Given the description of an element on the screen output the (x, y) to click on. 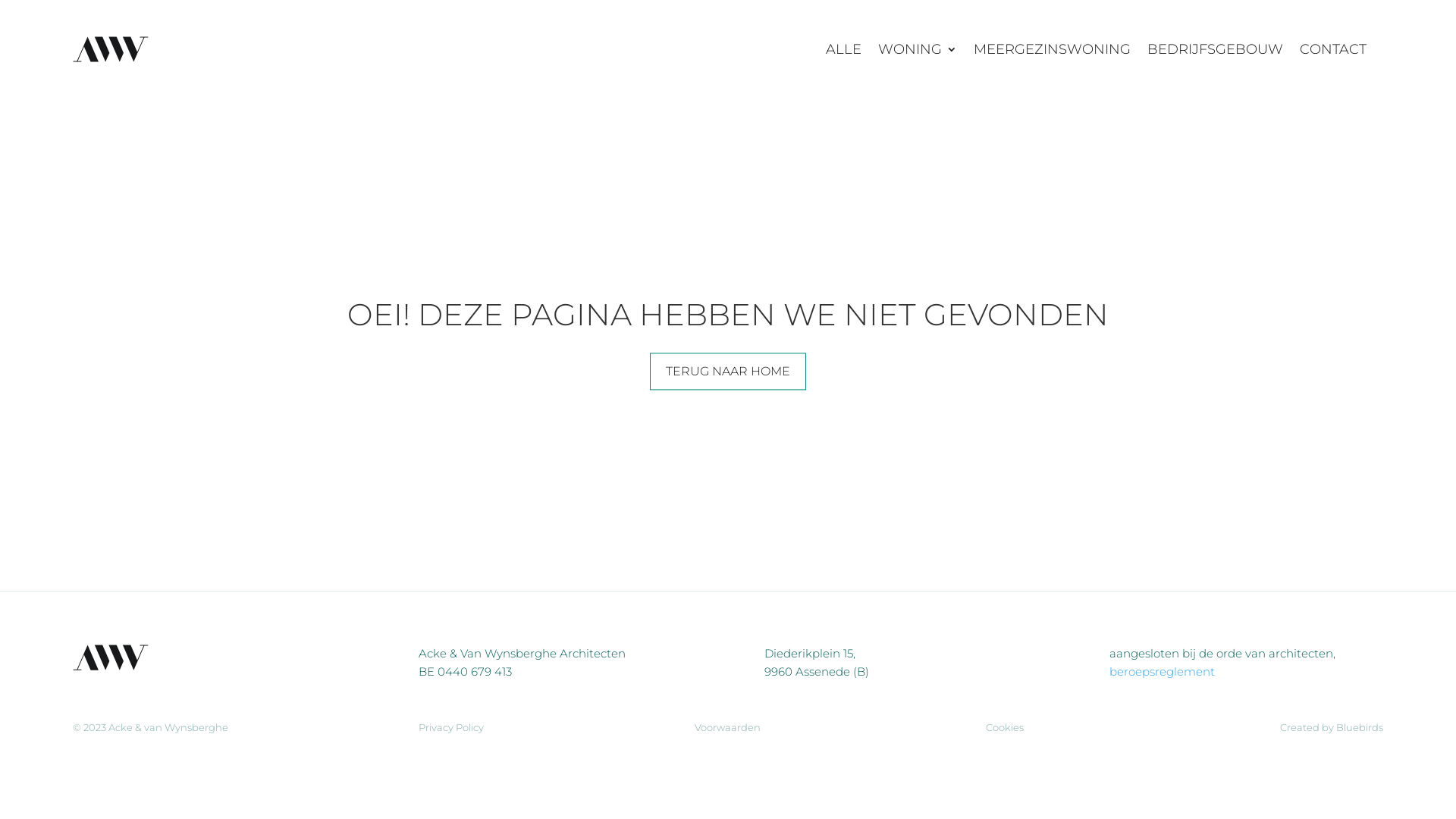
beroepsreglement Element type: text (1161, 671)
AVW - Icon Element type: hover (110, 657)
BEDRIJFSGEBOUW Element type: text (1215, 49)
ALLE Element type: text (843, 49)
TERUG NAAR HOME Element type: text (727, 370)
MEERGEZINSWONING Element type: text (1051, 49)
WONING Element type: text (917, 49)
CONTACT Element type: text (1332, 49)
